Given the description of an element on the screen output the (x, y) to click on. 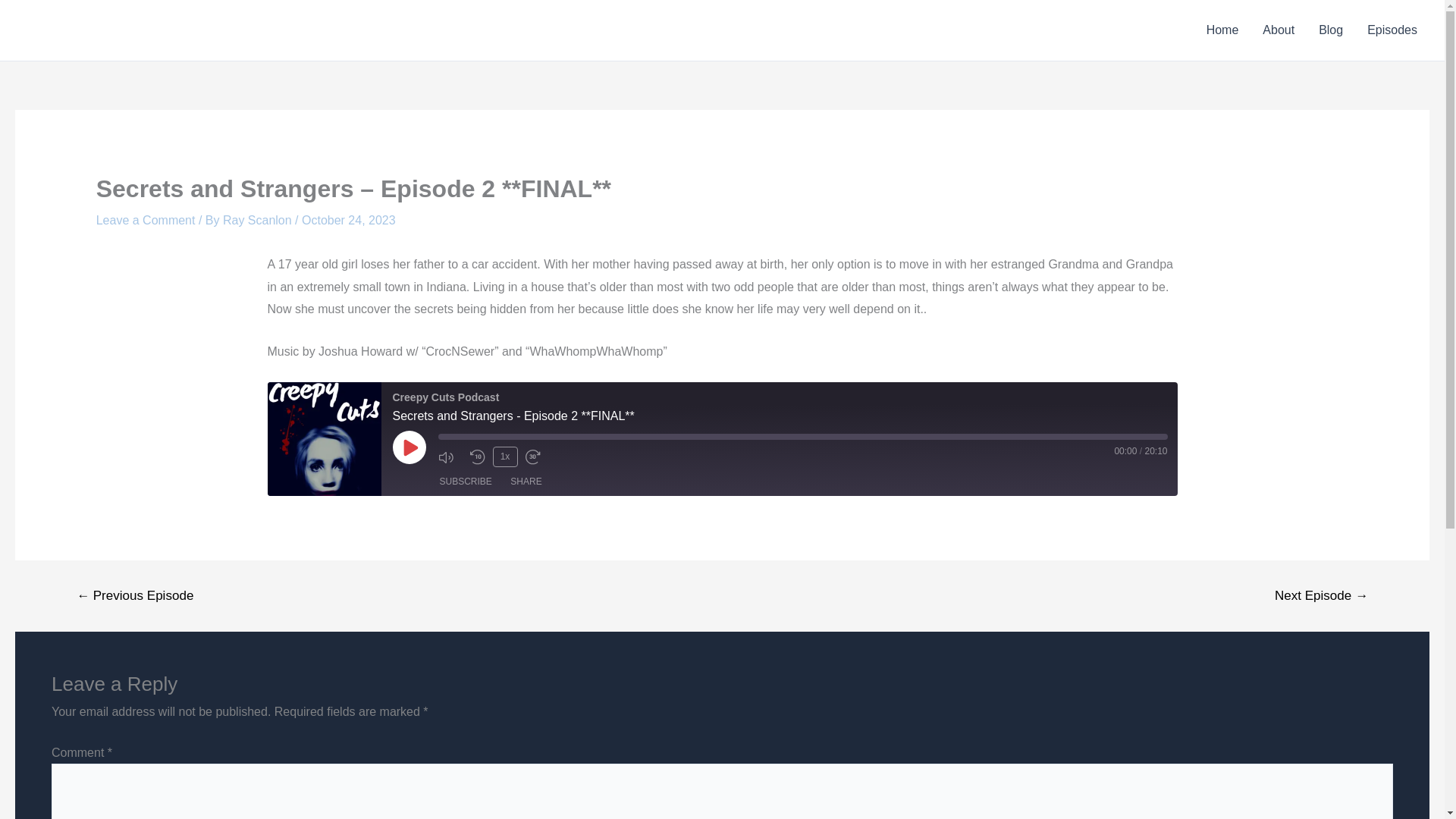
SHARE (525, 481)
Blog (1330, 30)
View all posts by Ray Scanlon (258, 219)
Rewind 10 Seconds (477, 457)
Episodes (1392, 30)
SUBSCRIBE (465, 481)
Creepy Cuts Podcast (323, 439)
1x (505, 456)
Subscribe (465, 481)
Home (1221, 30)
Play Episode (409, 447)
Rewind 10 seconds (477, 457)
Share (525, 481)
Fast Forward 30 seconds (536, 457)
Ray Scanlon (258, 219)
